Given the description of an element on the screen output the (x, y) to click on. 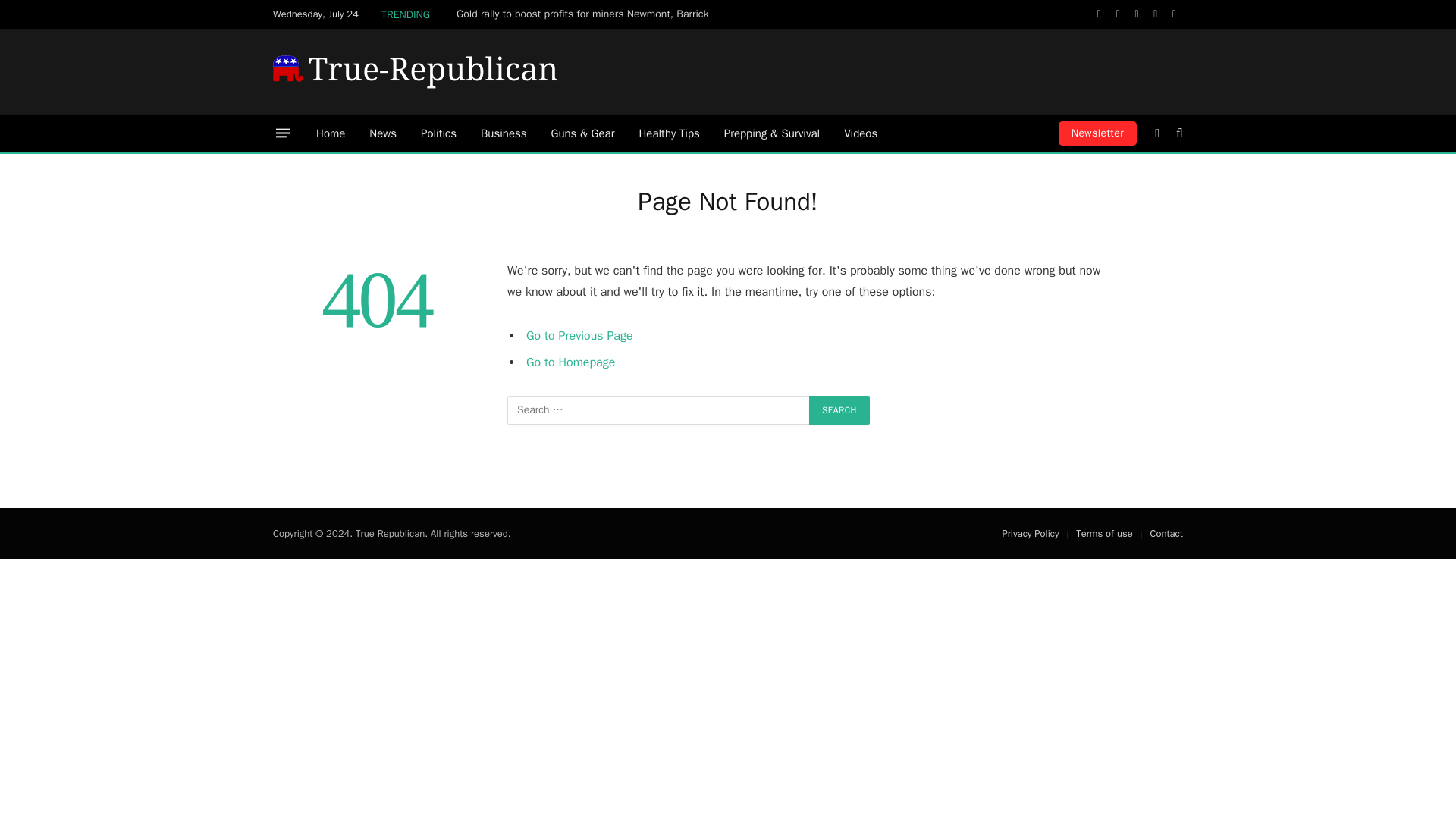
True Republican (415, 71)
Videos (860, 132)
Home (330, 132)
News (382, 132)
Politics (438, 132)
Newsletter (1097, 133)
Search (839, 410)
Healthy Tips (668, 132)
Search (839, 410)
Gold rally to boost profits for miners Newmont, Barrick (586, 14)
Business (503, 132)
Switch to Dark Design - easier on eyes. (1157, 133)
